Given the description of an element on the screen output the (x, y) to click on. 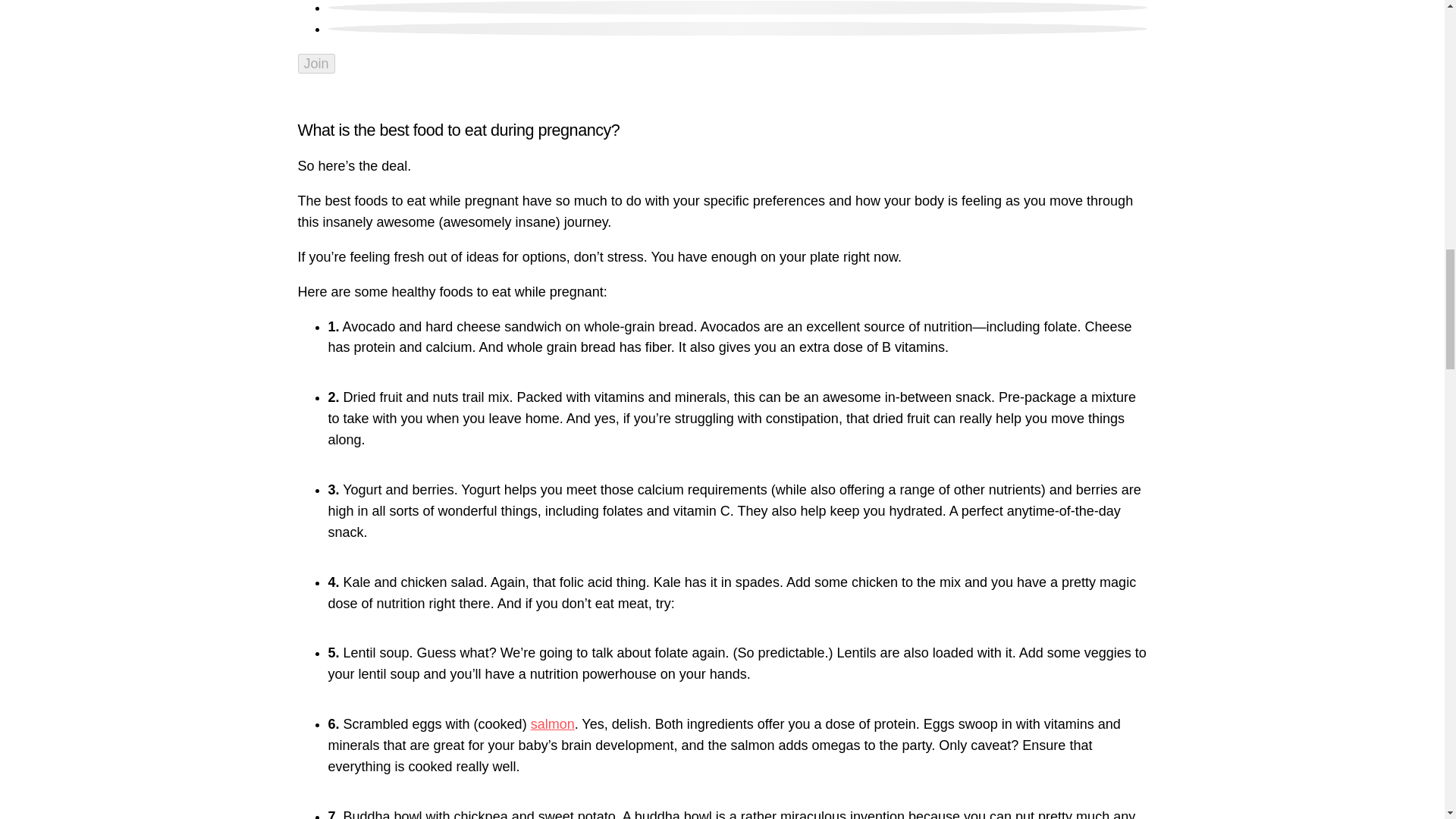
Join (315, 64)
Join (315, 63)
salmon (553, 724)
